Given the description of an element on the screen output the (x, y) to click on. 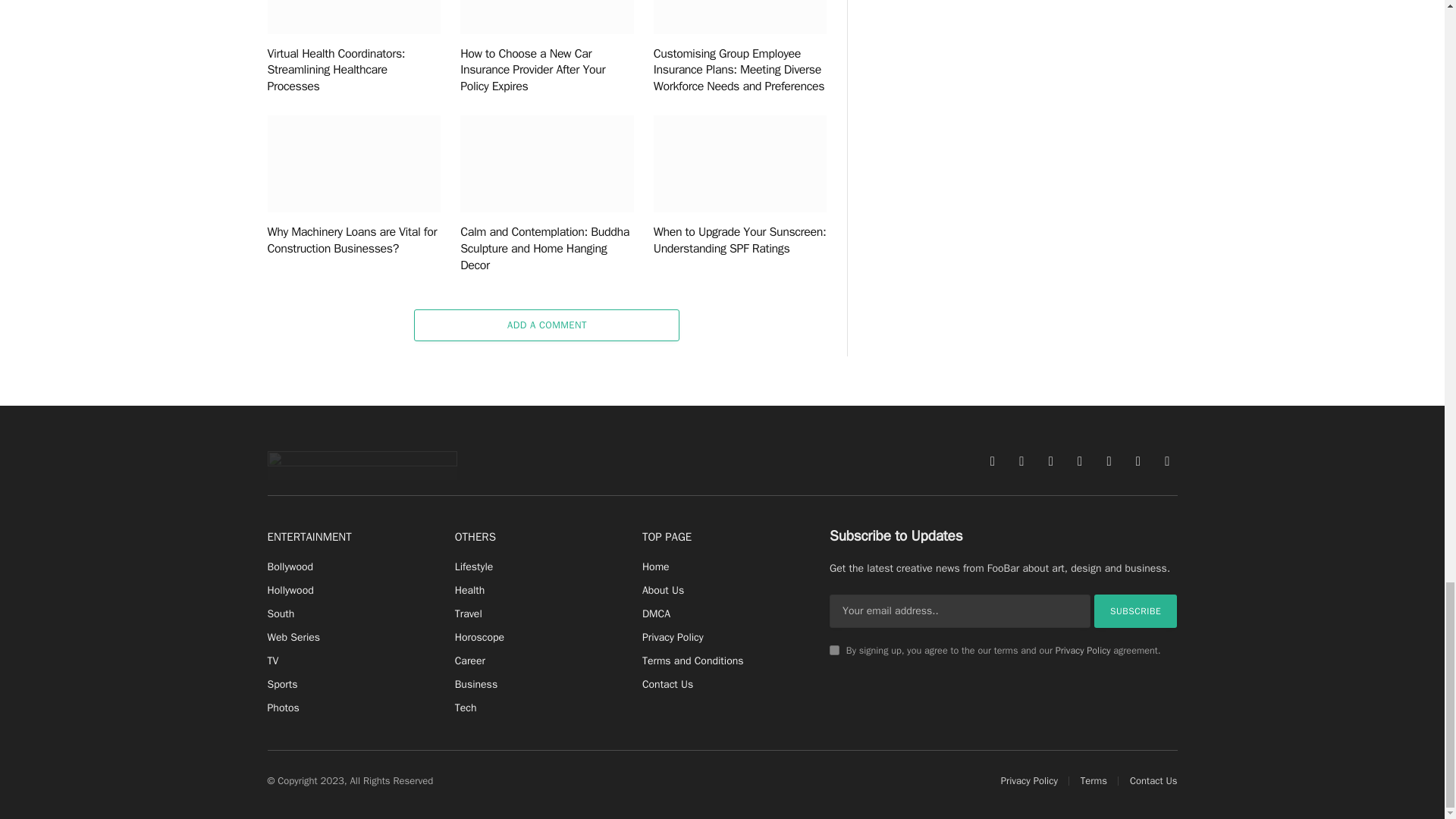
on (834, 650)
Subscribe (1135, 611)
